Given the description of an element on the screen output the (x, y) to click on. 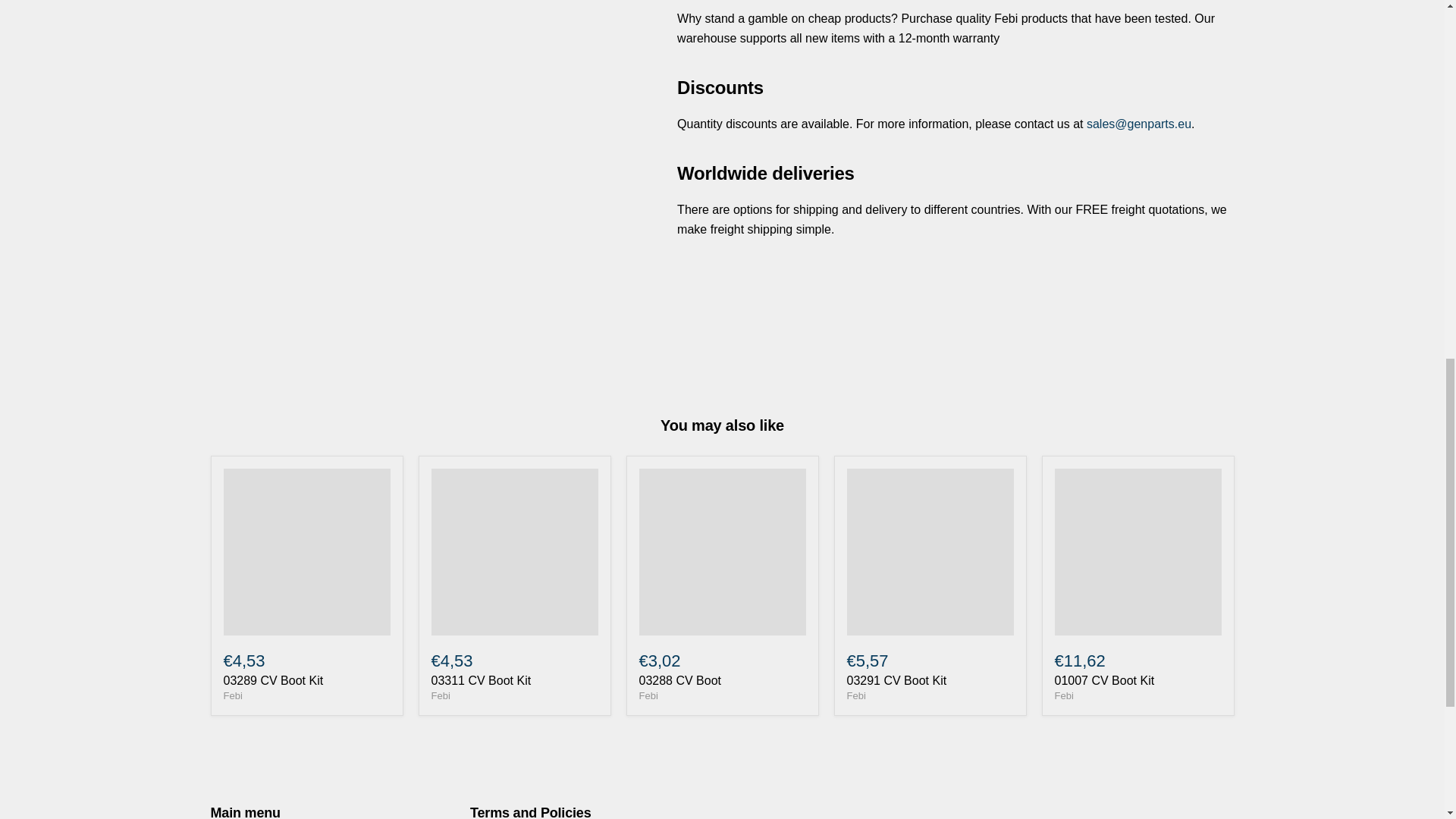
Febi (231, 695)
Febi (854, 695)
Febi (1063, 695)
Febi (439, 695)
Please send an email (1138, 123)
Febi (648, 695)
